Given the description of an element on the screen output the (x, y) to click on. 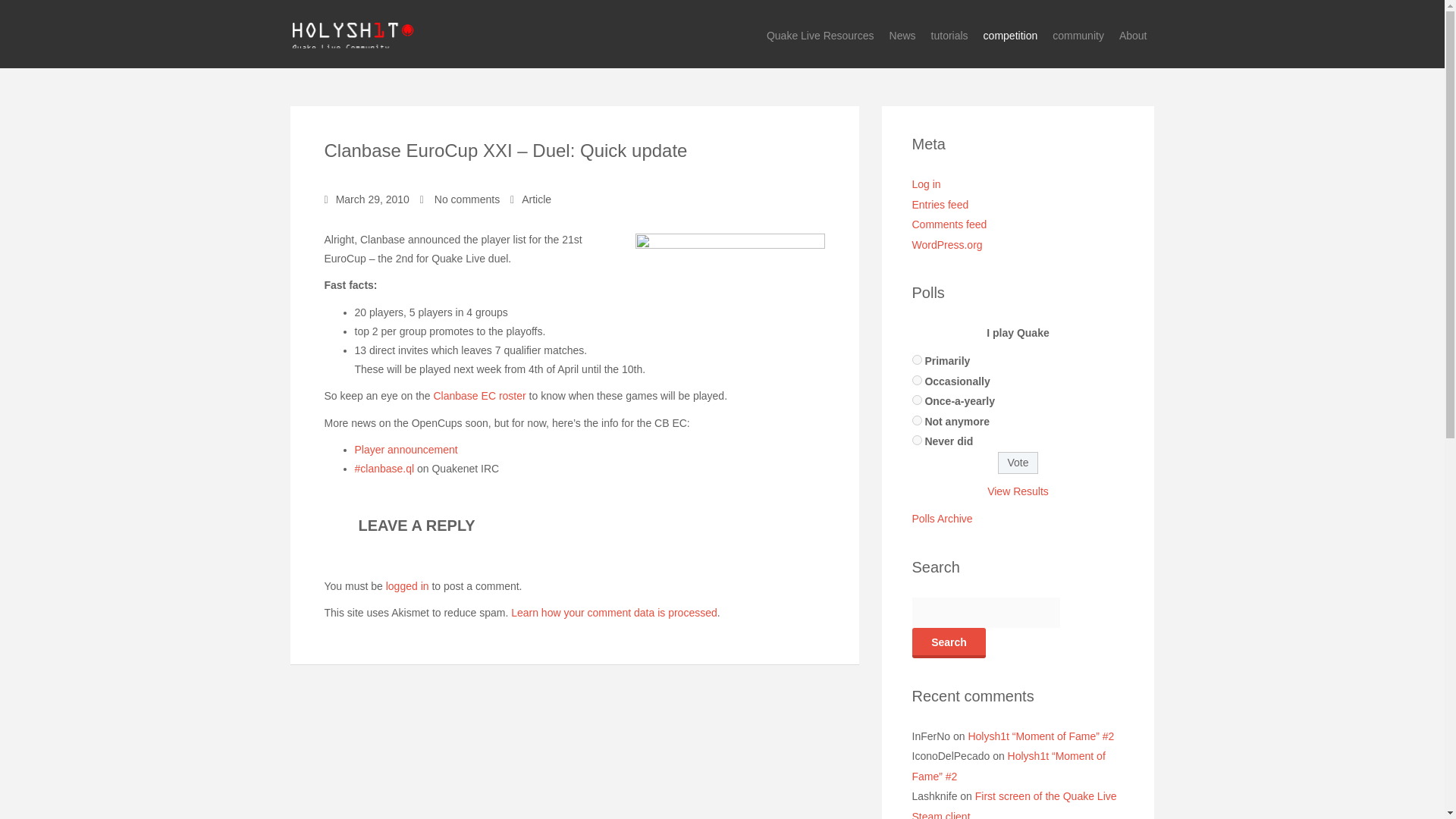
41 (916, 359)
View Results Of This Poll (1017, 491)
logged in (407, 585)
Learn how your comment data is processed (614, 612)
45 (916, 439)
Clanbase EC roster (479, 395)
Entries feed (939, 204)
competition (1010, 36)
   Vote    (1017, 463)
44 (916, 420)
Holysh1t.net (351, 33)
Quake Live Resources (820, 36)
42 (916, 379)
Comments feed (949, 224)
community (1078, 36)
